Given the description of an element on the screen output the (x, y) to click on. 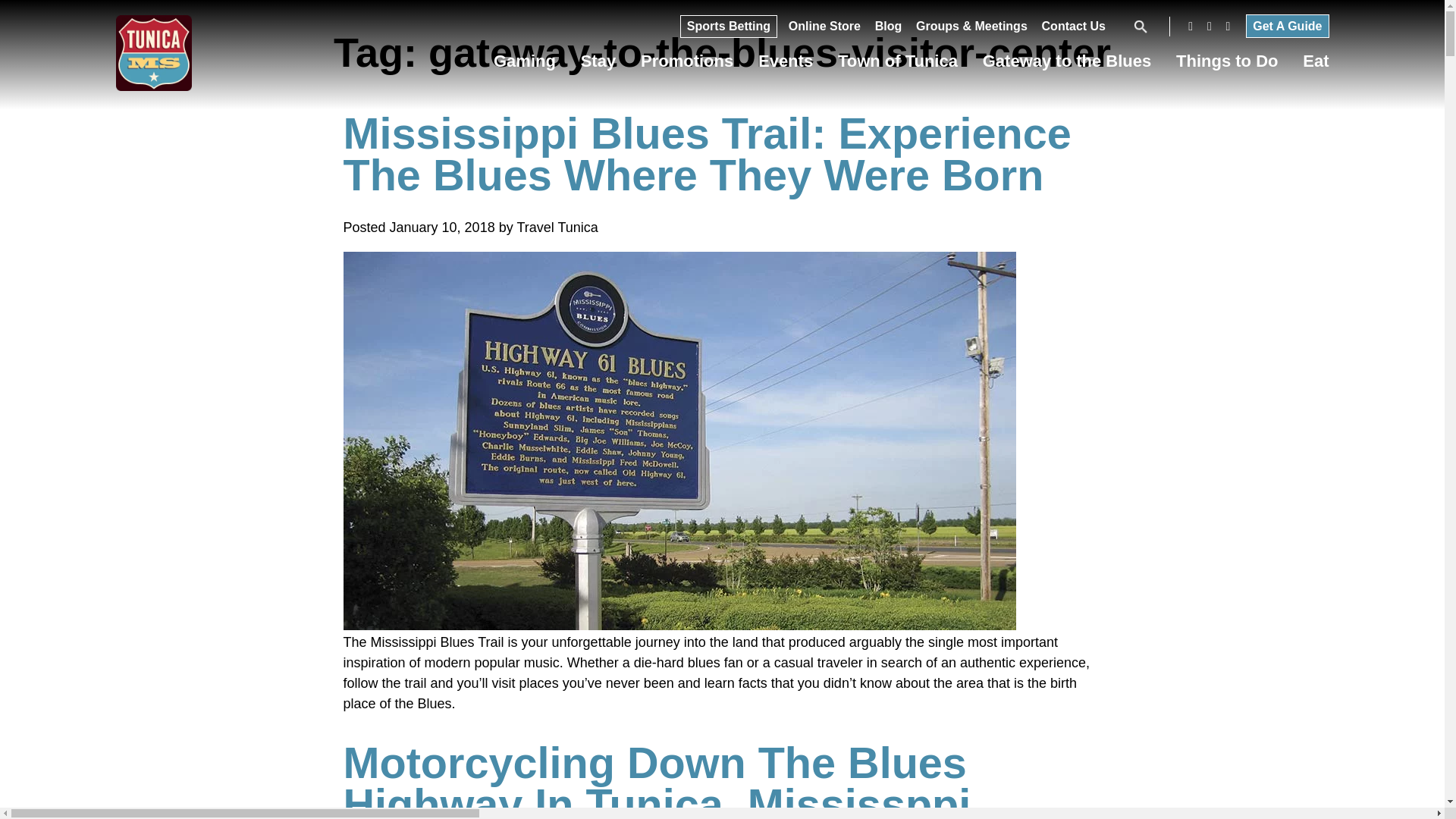
Motorcycling Down The Blues Highway In Tunica, Mississppi (656, 778)
Stay (597, 64)
Contact Us (1073, 29)
Get A Guide (1286, 25)
Blog (888, 29)
Sports Betting (728, 29)
Gaming (524, 64)
Online Store (824, 29)
Events (785, 64)
